Given the description of an element on the screen output the (x, y) to click on. 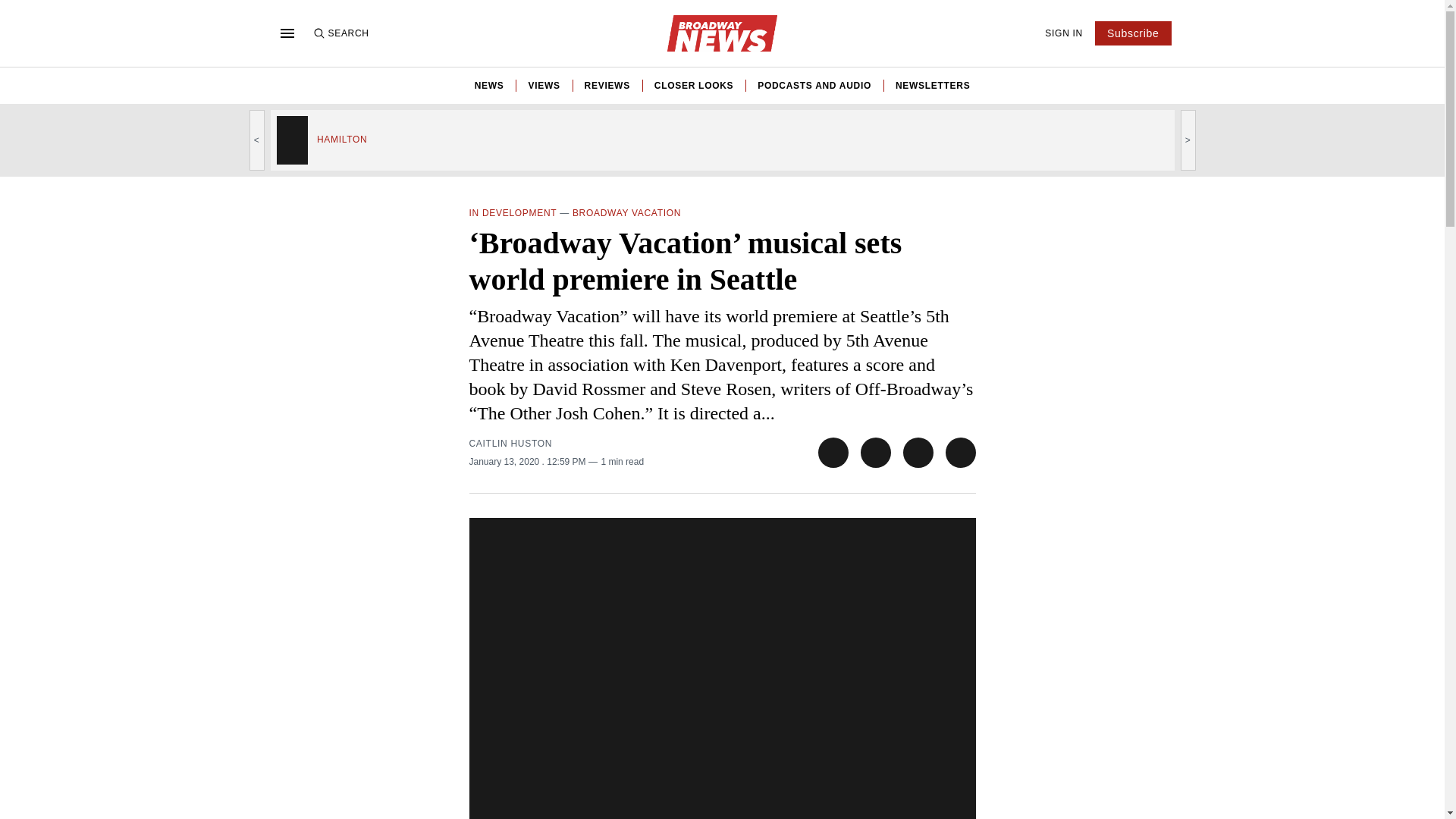
SIGN IN (1064, 33)
SEARCH (340, 33)
NEWSLETTERS (932, 85)
PODCASTS AND AUDIO (813, 85)
VIEWS (543, 85)
NEWS (488, 85)
REVIEWS (607, 85)
CLOSER LOOKS (693, 85)
Subscribe (1133, 33)
